Given the description of an element on the screen output the (x, y) to click on. 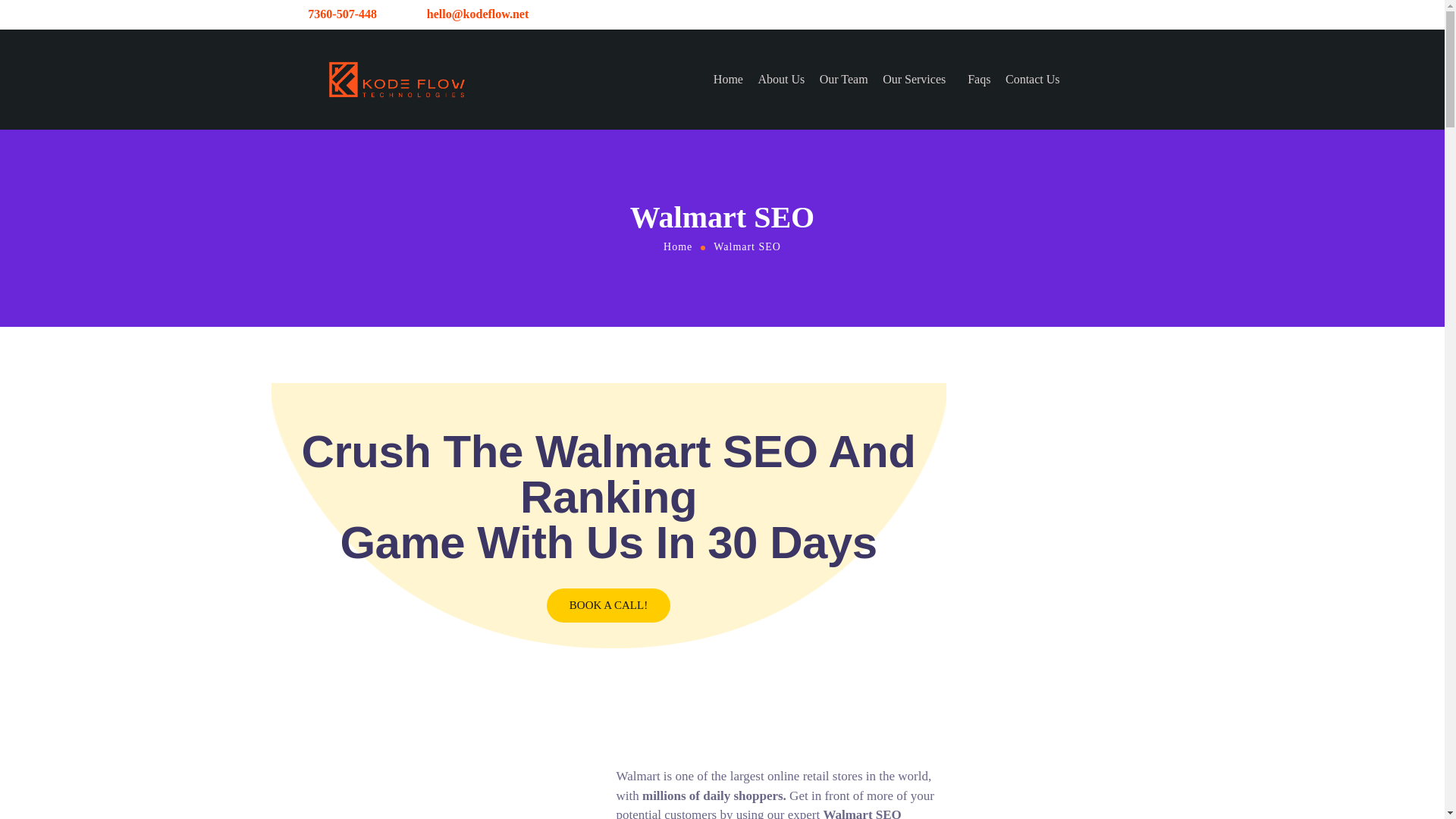
Our Team (843, 79)
Contact Us (1032, 79)
KF-Logo (395, 79)
Our Services (917, 79)
About Us (781, 79)
Home (677, 246)
BOOK A CALL! (608, 605)
